Given the description of an element on the screen output the (x, y) to click on. 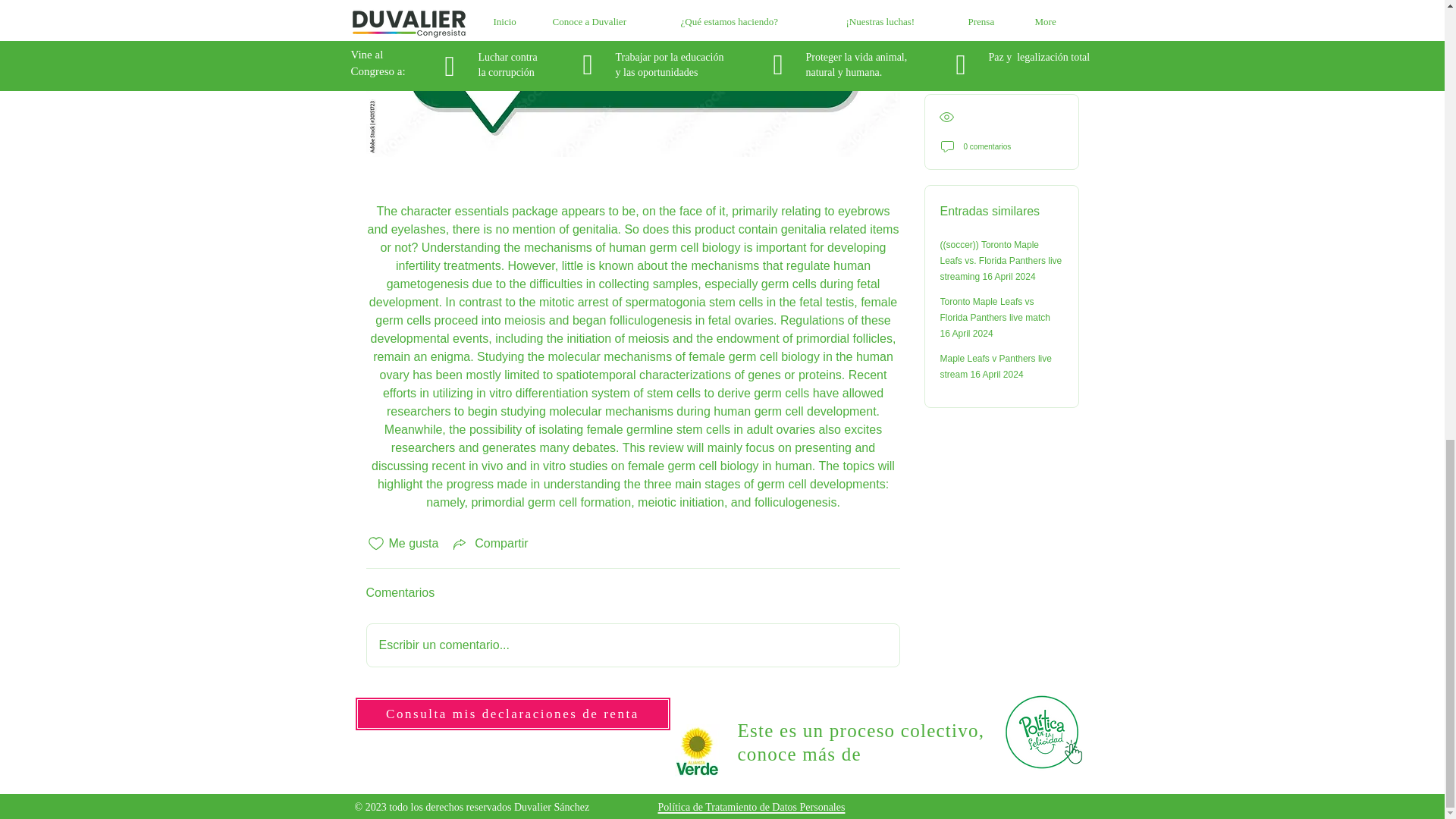
Embedded Content (556, 759)
Consulta mis declaraciones de renta (513, 713)
Hand with a pencil (1044, 731)
Escribir un comentario... (632, 645)
Compartir (488, 543)
